Given the description of an element on the screen output the (x, y) to click on. 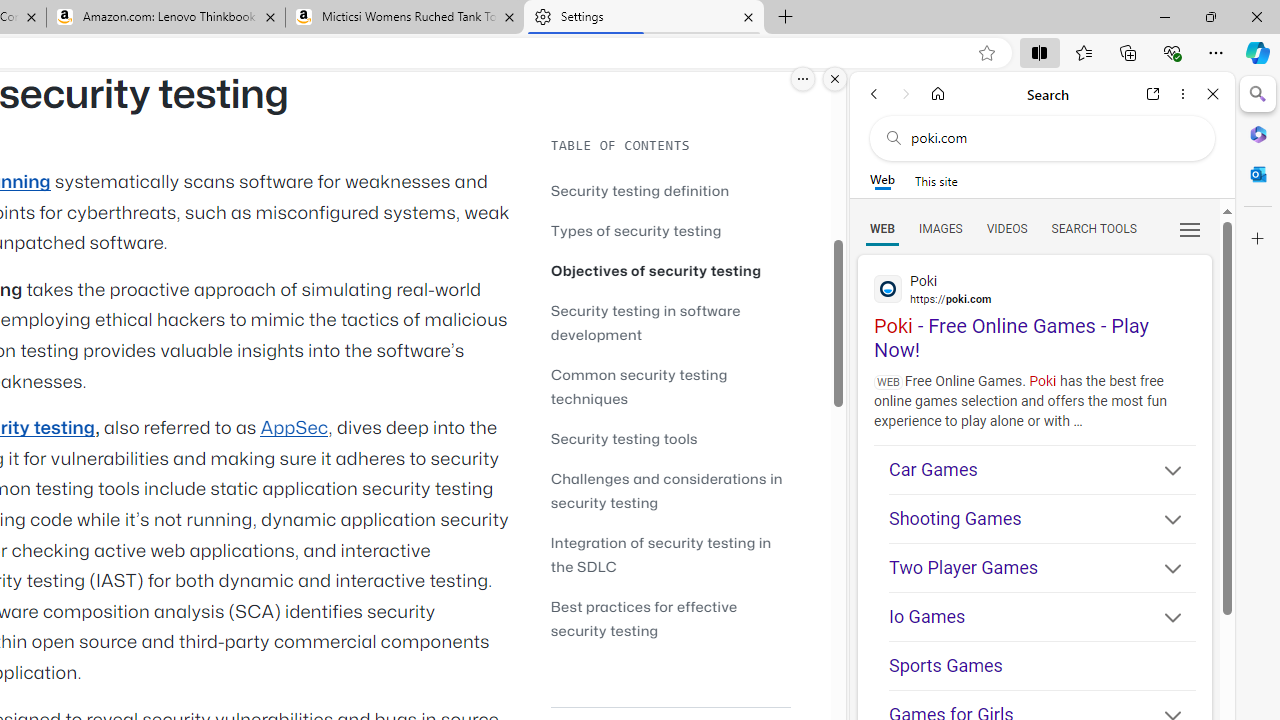
Sports Games (1042, 665)
Integration of security testing in the SDLC (670, 553)
Show More Two Player Games (1164, 570)
Integration of security testing in the SDLC (660, 554)
Security testing in software development (670, 322)
Car Games (1042, 469)
